Given the description of an element on the screen output the (x, y) to click on. 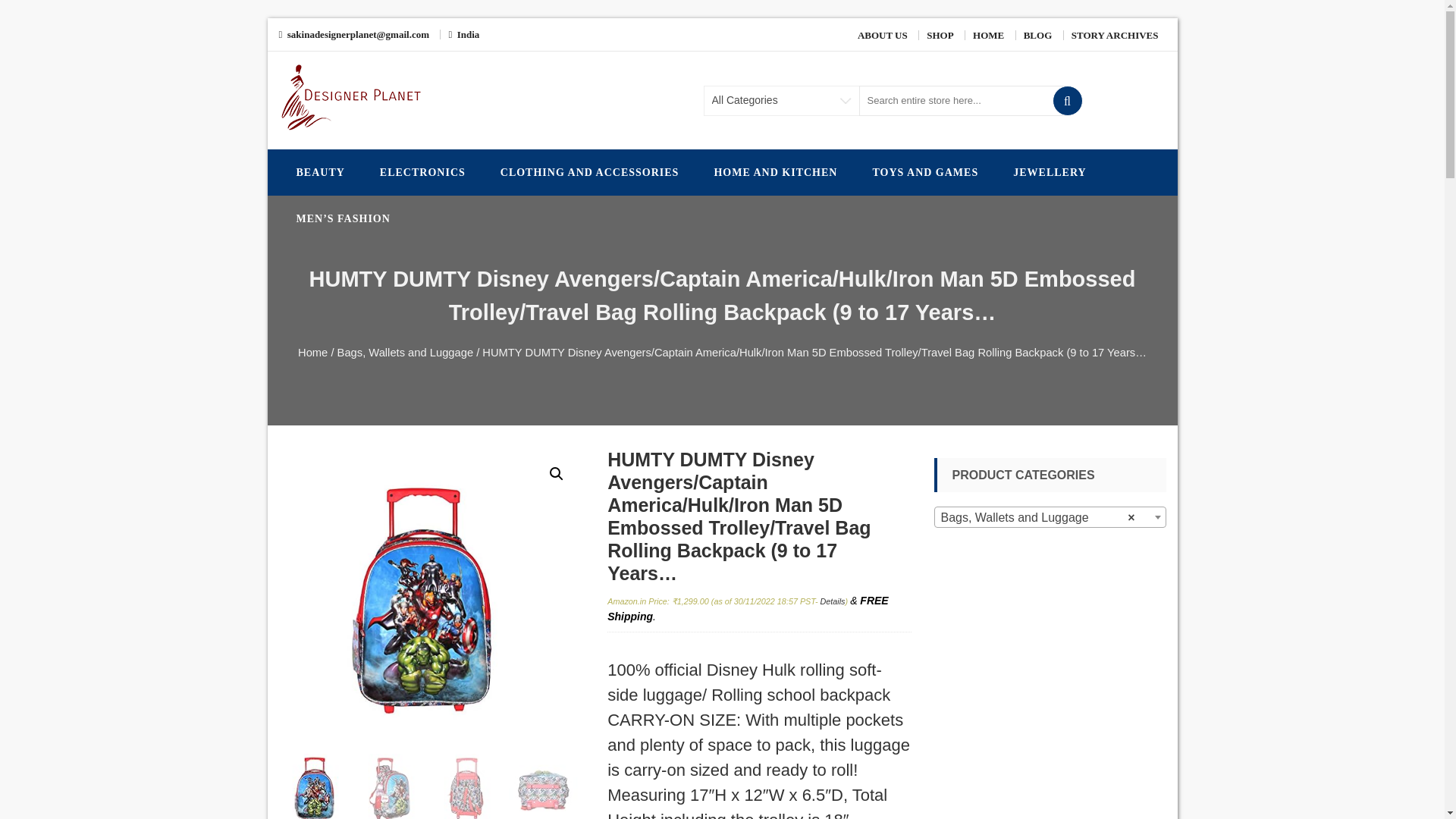
ABOUT US (882, 34)
  India (463, 34)
Designerplanet (358, 148)
Details (833, 601)
Bags, Wallets and Luggage (405, 352)
Home (312, 352)
CLOTHING AND ACCESSORIES (590, 172)
